Given the description of an element on the screen output the (x, y) to click on. 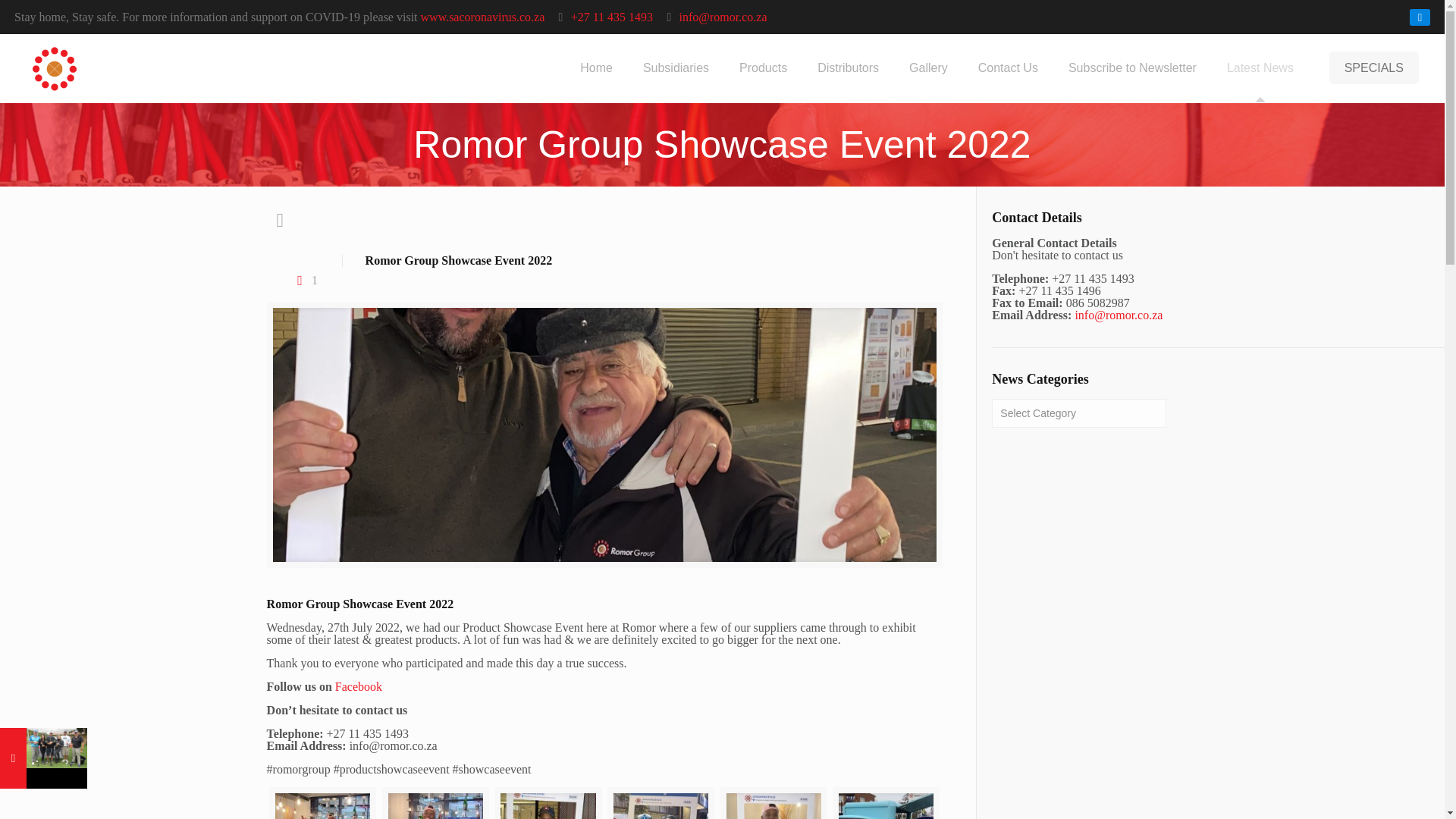
Gallery (927, 68)
Romor Group (116, 68)
Subsidiaries (675, 68)
www.sacoronavirus.co.za (482, 16)
Home (595, 68)
Distributors (847, 68)
Contact Us (1007, 68)
Products (762, 68)
Facebook (1419, 17)
Latest News (1259, 68)
Subscribe to Newsletter (1131, 68)
